Given the description of an element on the screen output the (x, y) to click on. 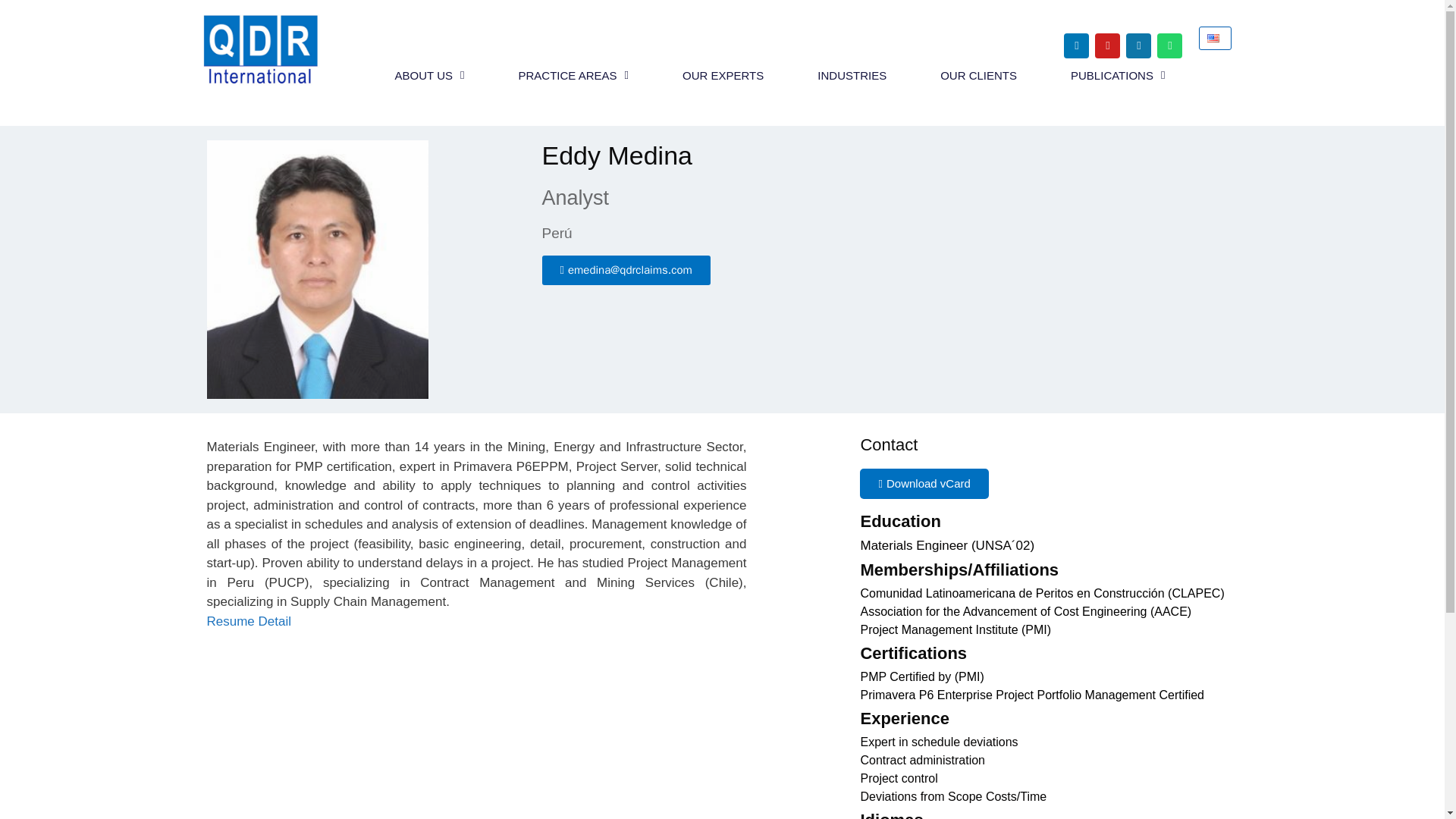
INDUSTRIES (851, 75)
PUBLICATIONS (1117, 75)
PRACTICE AREAS (573, 75)
ABOUT US (429, 75)
OUR CLIENTS (978, 75)
OUR EXPERTS (722, 75)
